Given the description of an element on the screen output the (x, y) to click on. 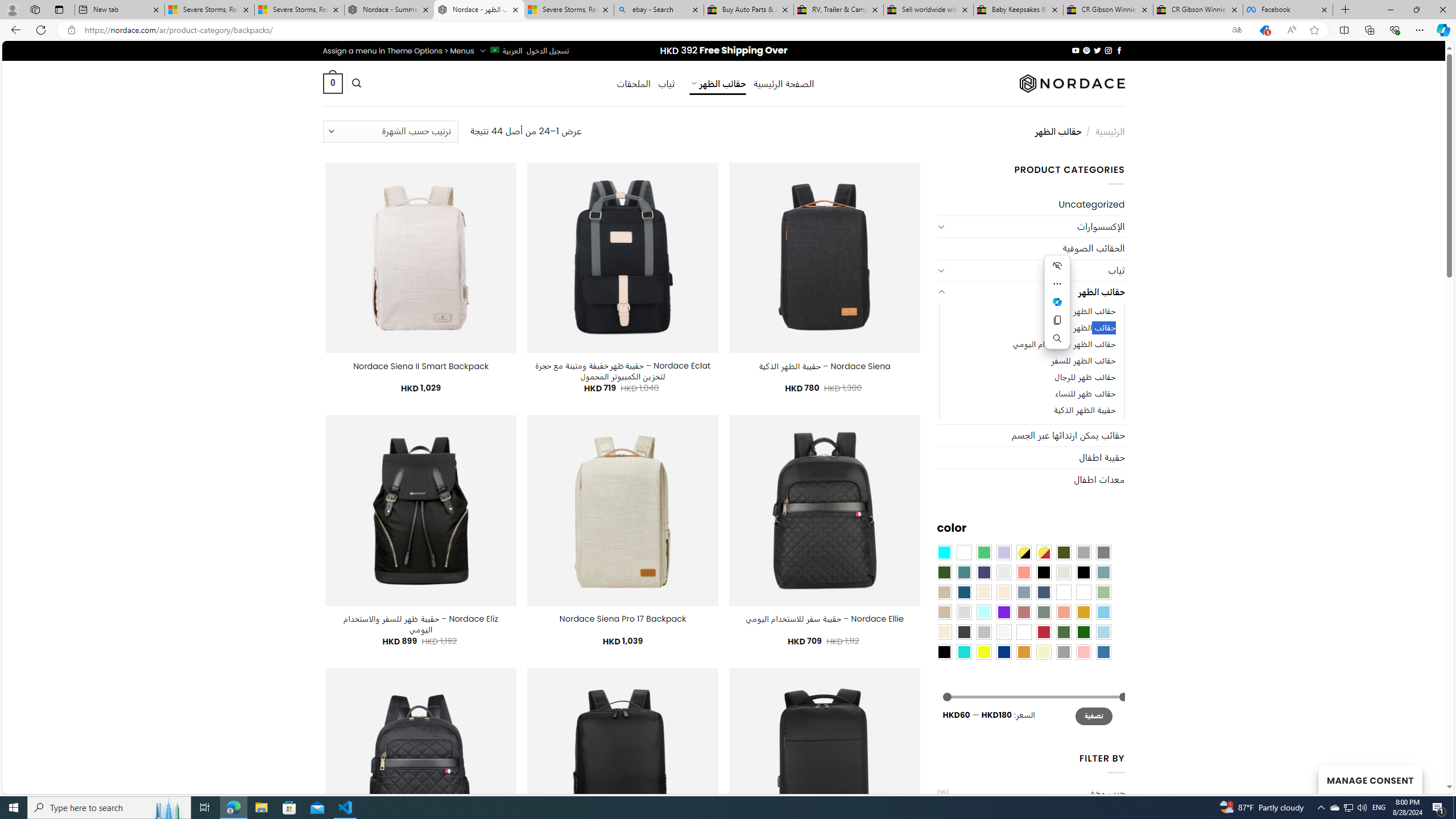
Emerald Green (983, 551)
Nordace Siena II Smart Backpack (420, 365)
Brownie (944, 591)
Cream (1003, 591)
Caramel (983, 591)
Assign a menu in Theme Options > Menus (397, 50)
Light Purple (1003, 551)
